Given the description of an element on the screen output the (x, y) to click on. 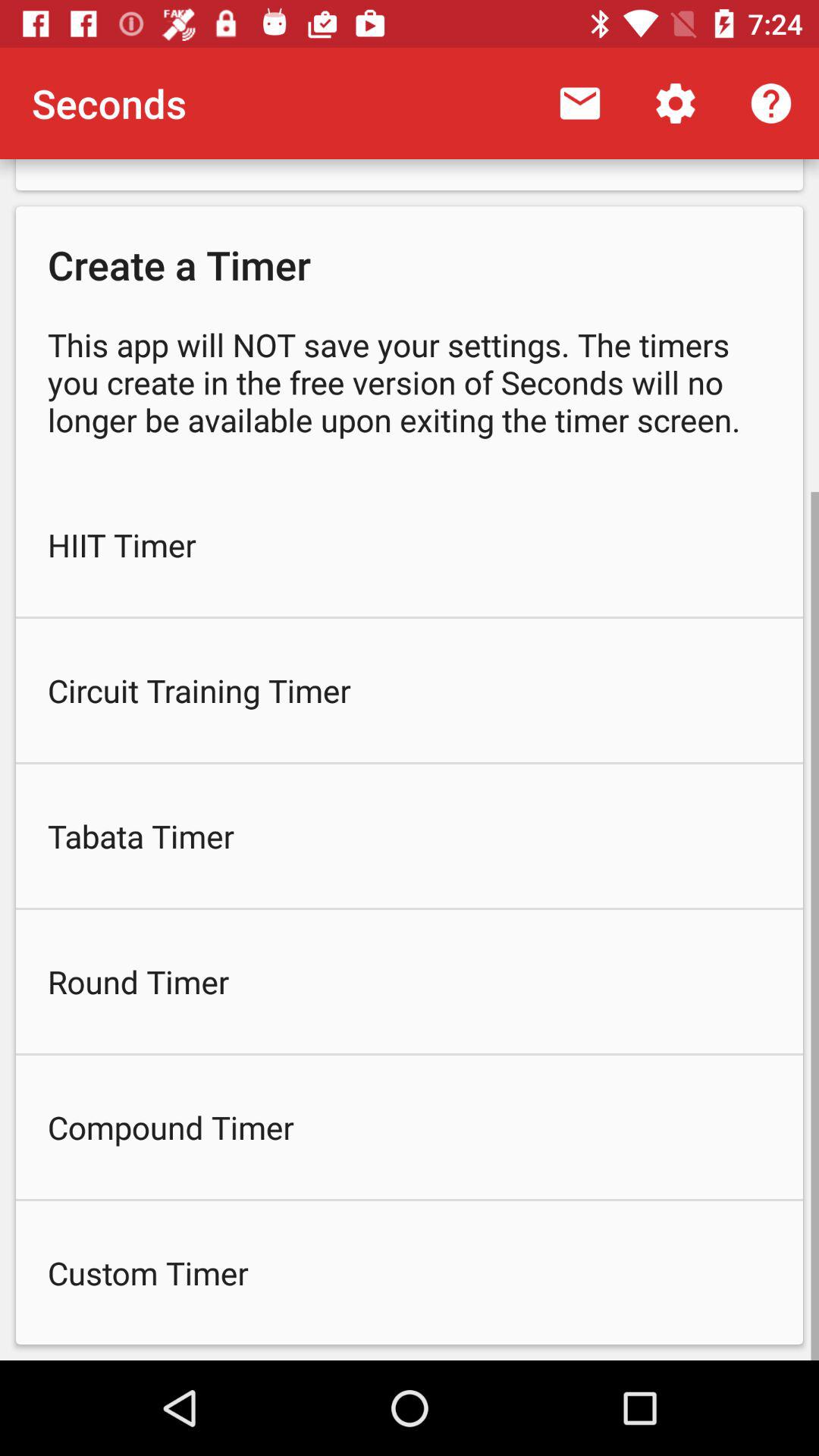
select icon next to seconds app (579, 103)
